Given the description of an element on the screen output the (x, y) to click on. 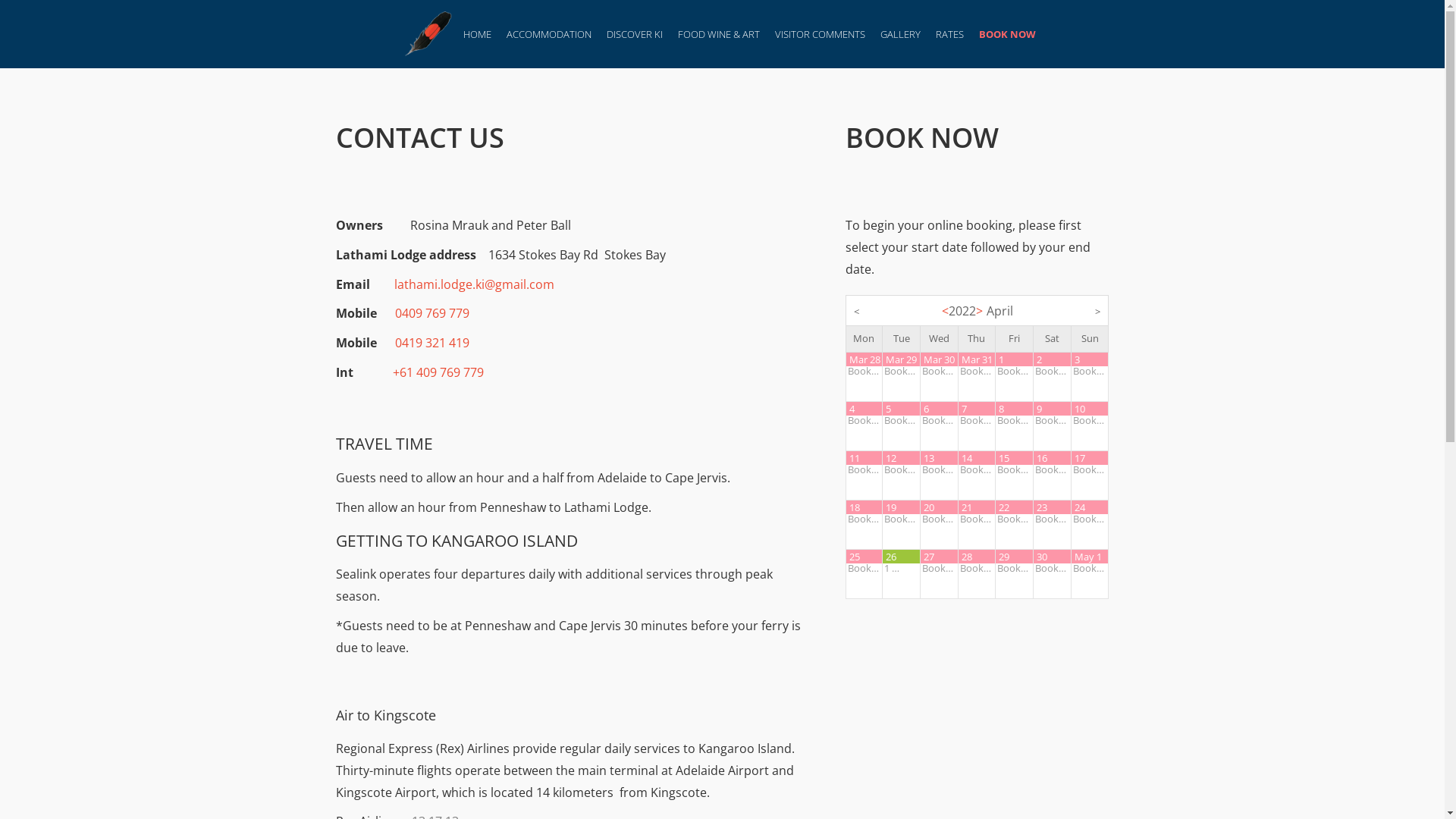
0419 321 419 Element type: text (431, 342)
0409 769 779 Element type: text (431, 312)
+61 409 769 779 Element type: text (437, 372)
< Element type: text (944, 310)
FOOD WINE & ART Element type: text (718, 33)
lathami.lodge.ki@gmail.com Element type: text (474, 284)
RATES Element type: text (949, 33)
< Element type: text (856, 311)
DISCOVER KI Element type: text (634, 33)
VISITOR COMMENTS Element type: text (819, 33)
HOME Element type: text (476, 33)
ACCOMMODATION Element type: text (548, 33)
GALLERY Element type: text (900, 33)
> Element type: text (1097, 311)
BOOK NOW Element type: text (1007, 33)
> Element type: text (978, 310)
